Given the description of an element on the screen output the (x, y) to click on. 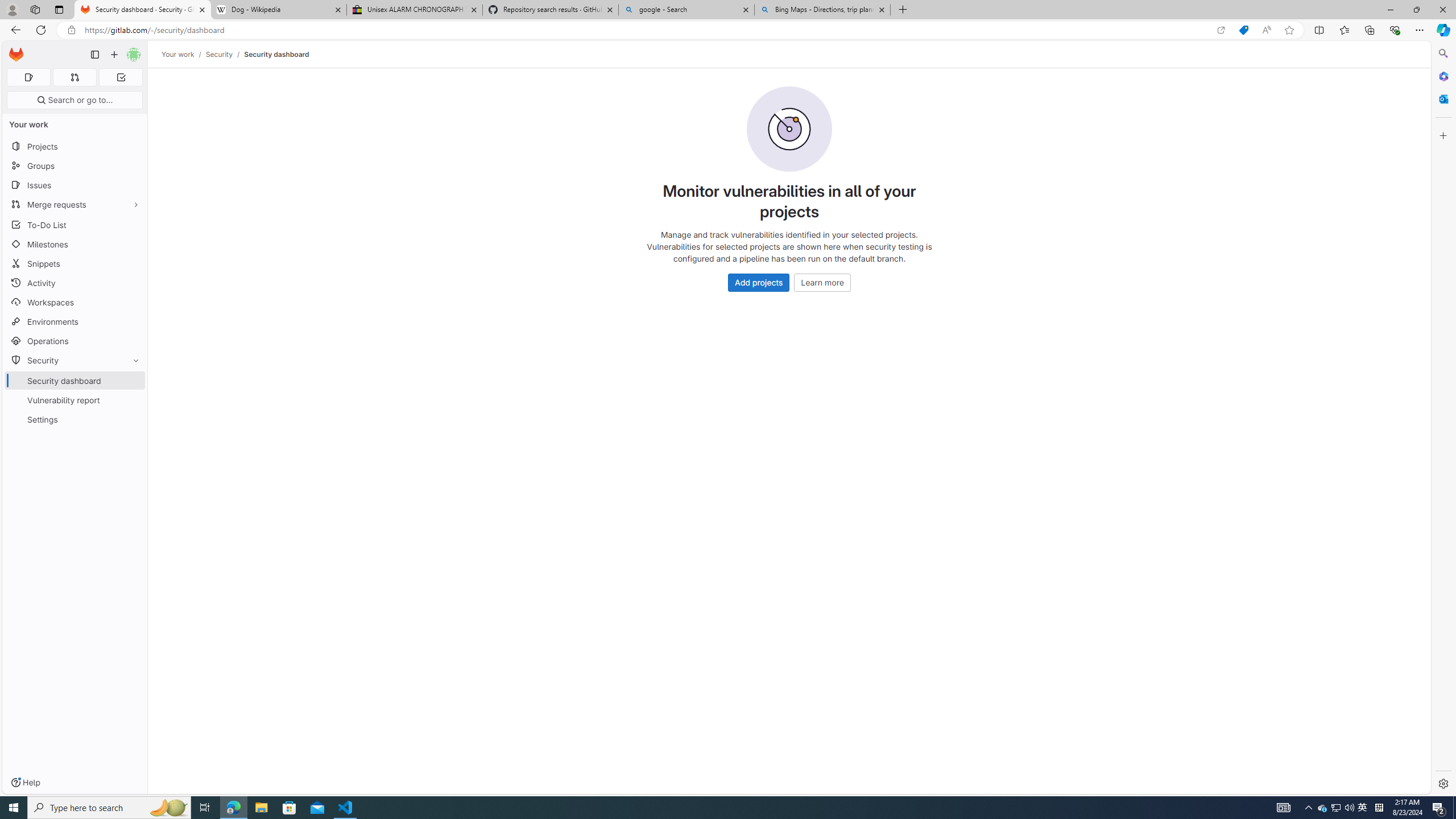
Your work/ (183, 53)
Security (74, 359)
Issues (74, 185)
Merge requests (74, 203)
